Given the description of an element on the screen output the (x, y) to click on. 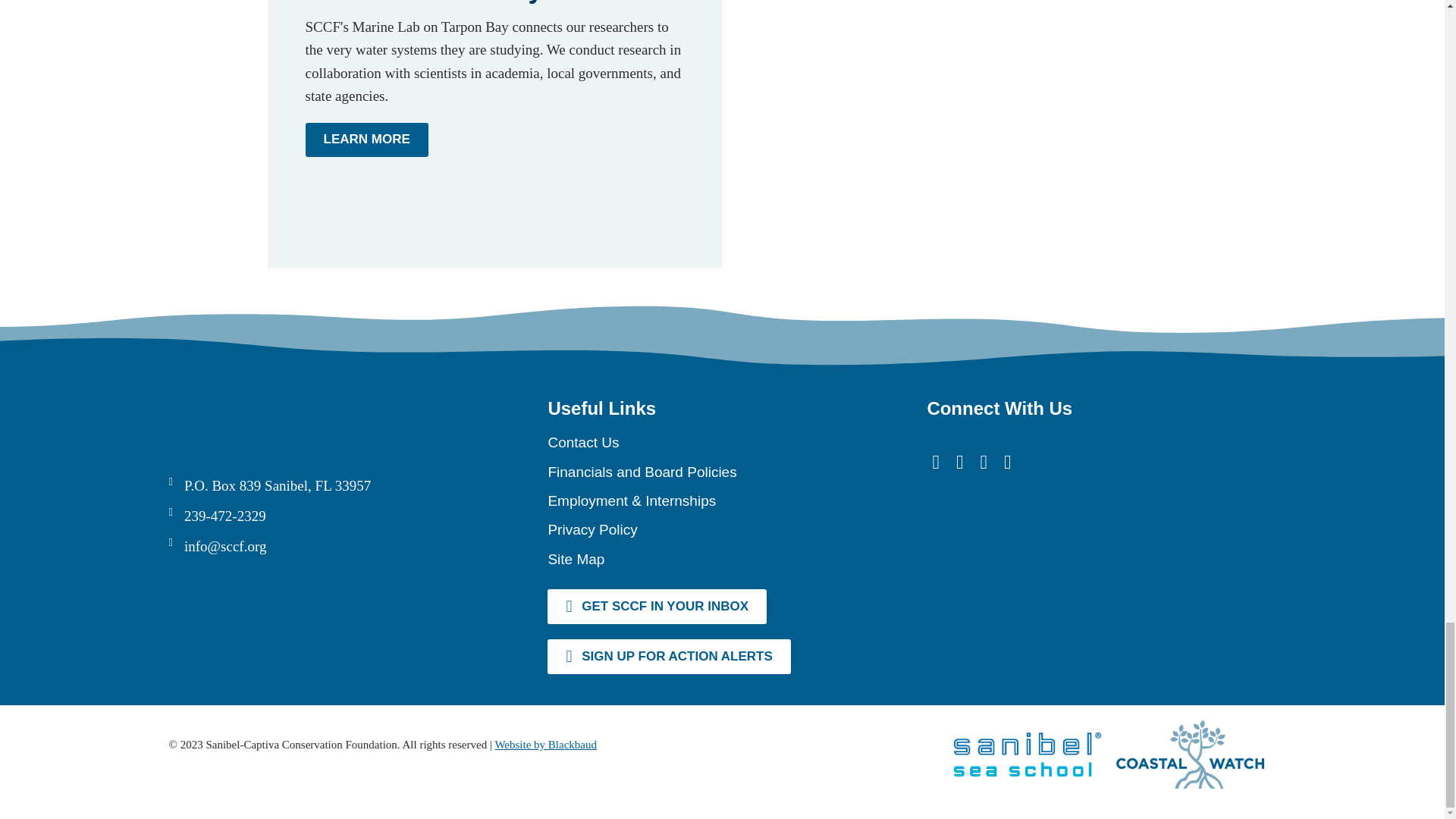
YouTube (959, 462)
Sccf Logo New (282, 420)
Facebook (935, 462)
Twitter (983, 462)
Instagram (1007, 462)
Four Star Rating Badge Full Color (983, 560)
